Given the description of an element on the screen output the (x, y) to click on. 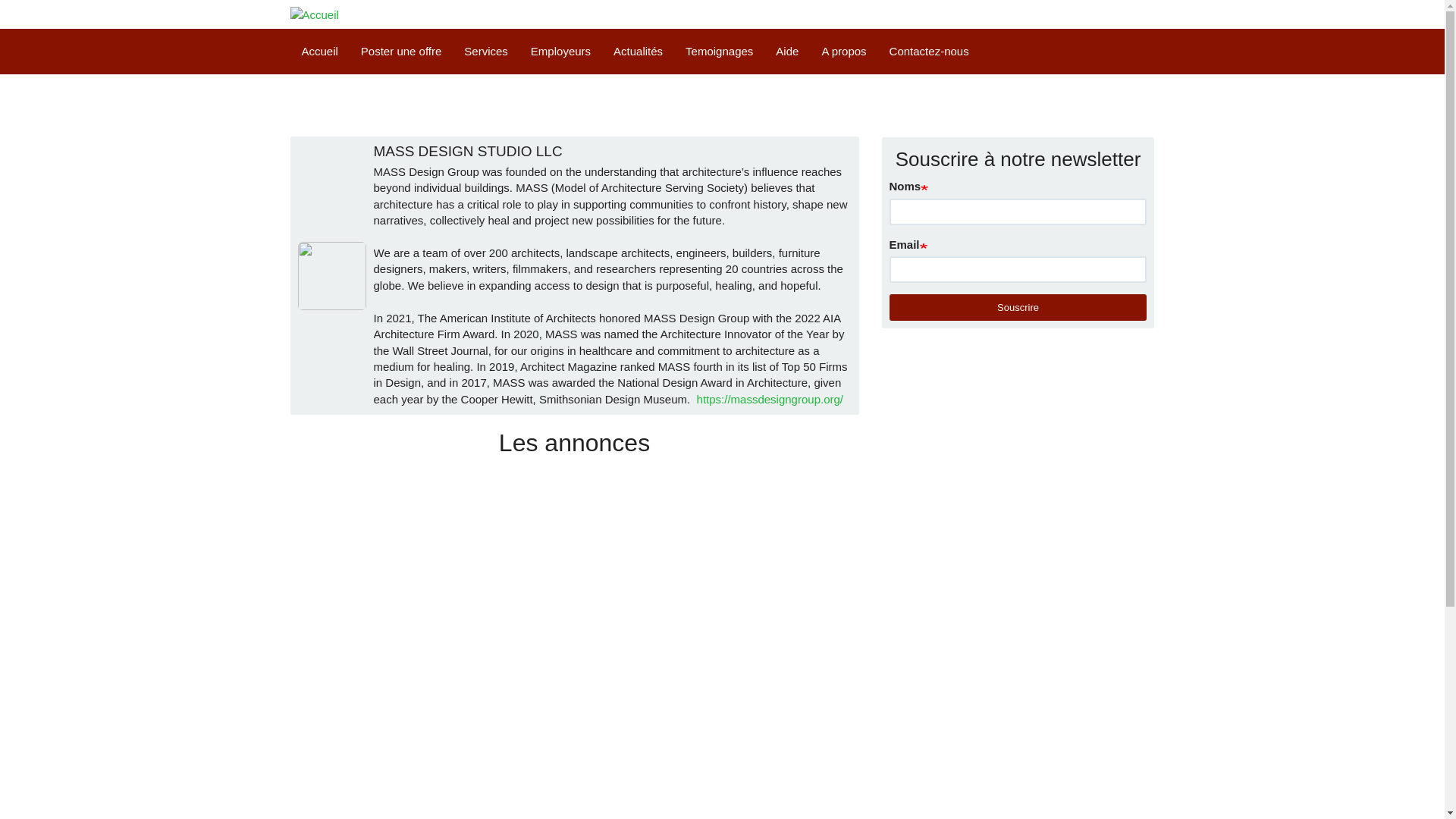
Souscrire (1017, 307)
Temoignages (719, 51)
Employeurs (560, 51)
Services (485, 51)
Accueil (319, 51)
Contactez-nous (928, 51)
Poster une offre (400, 51)
Accueil (313, 14)
A propos (843, 51)
Aide (786, 51)
